Given the description of an element on the screen output the (x, y) to click on. 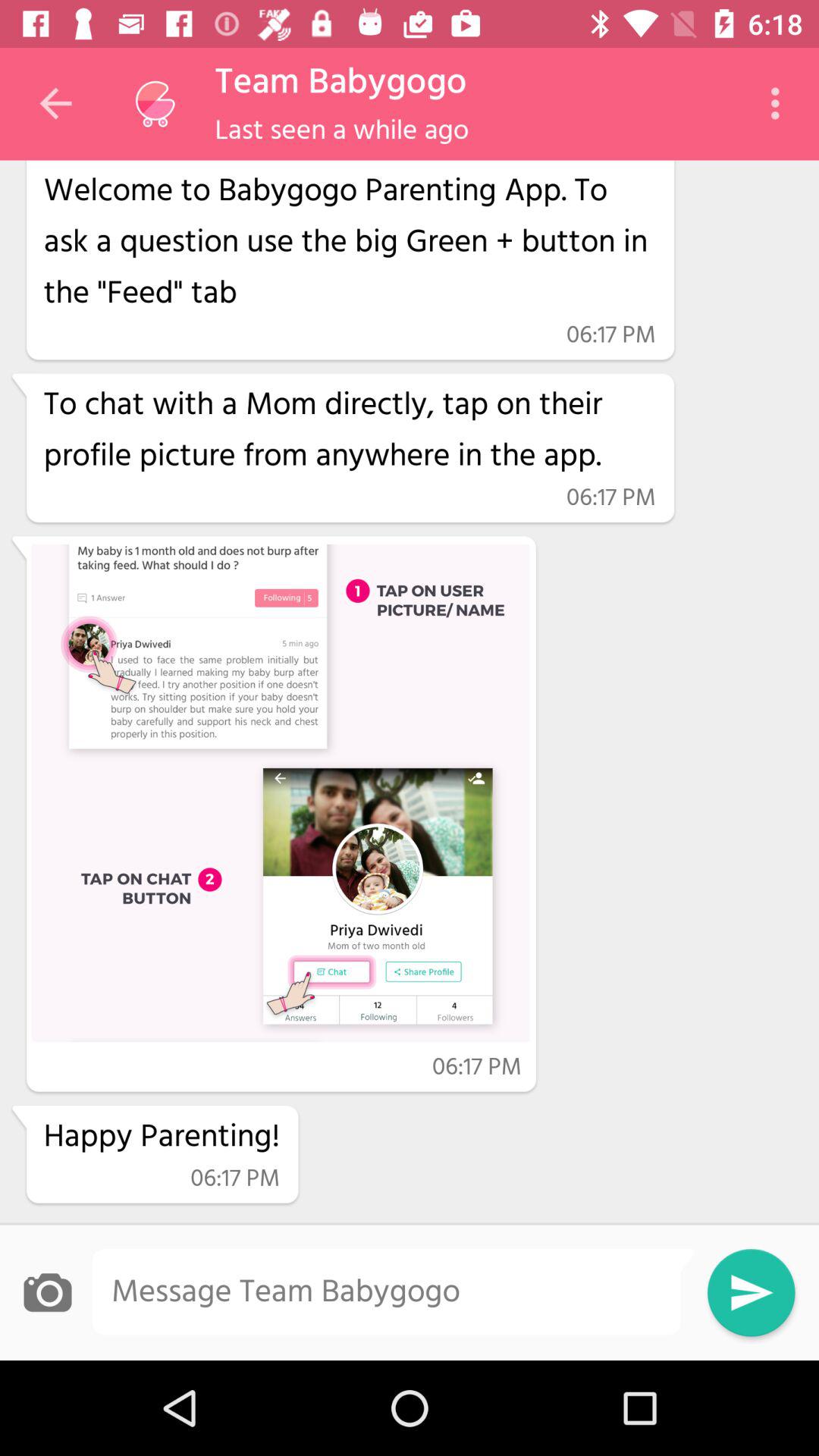
choose happy parenting! icon (161, 1137)
